Given the description of an element on the screen output the (x, y) to click on. 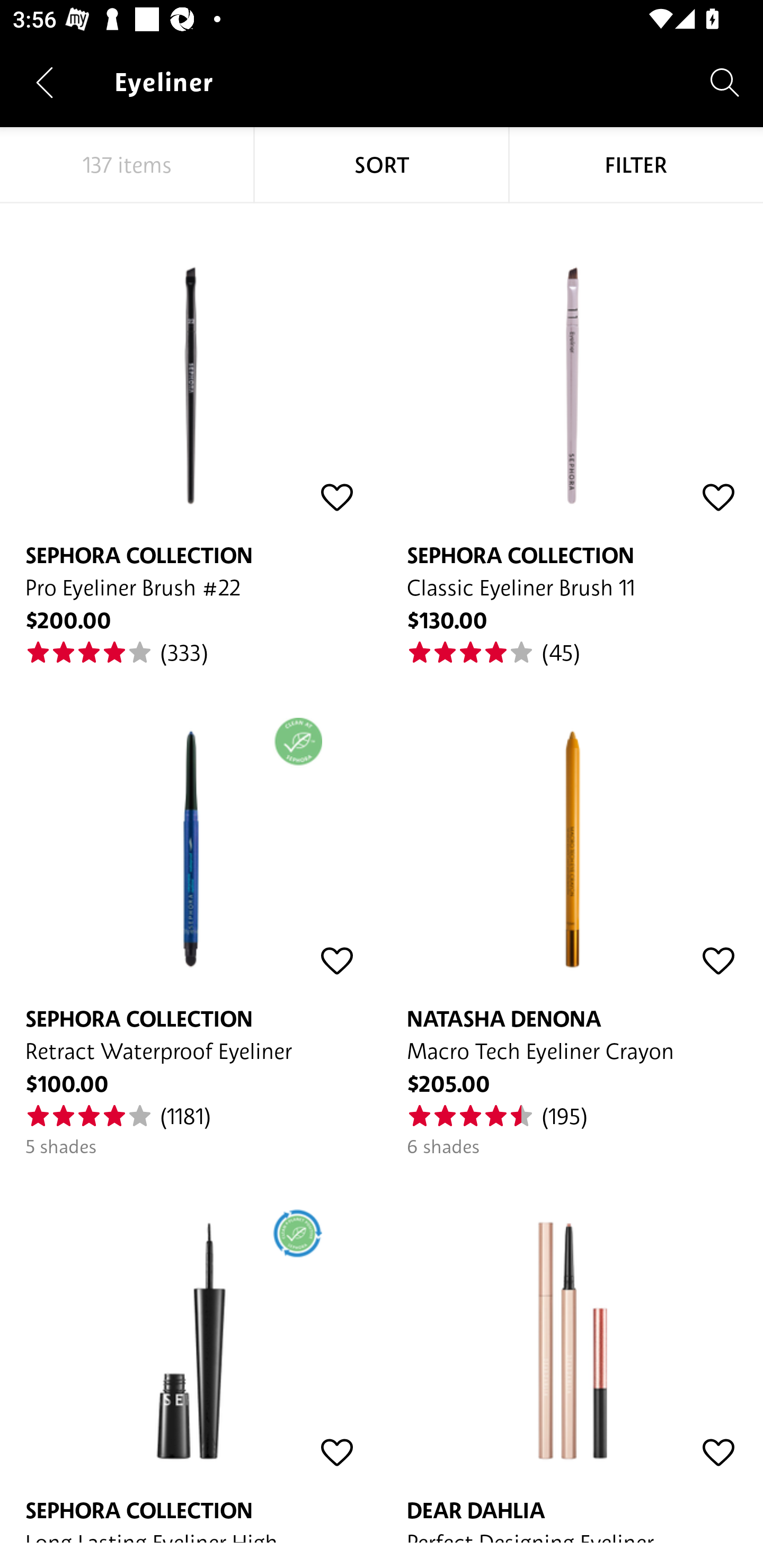
Navigate up (44, 82)
Search (724, 81)
SORT (381, 165)
FILTER (636, 165)
